Given the description of an element on the screen output the (x, y) to click on. 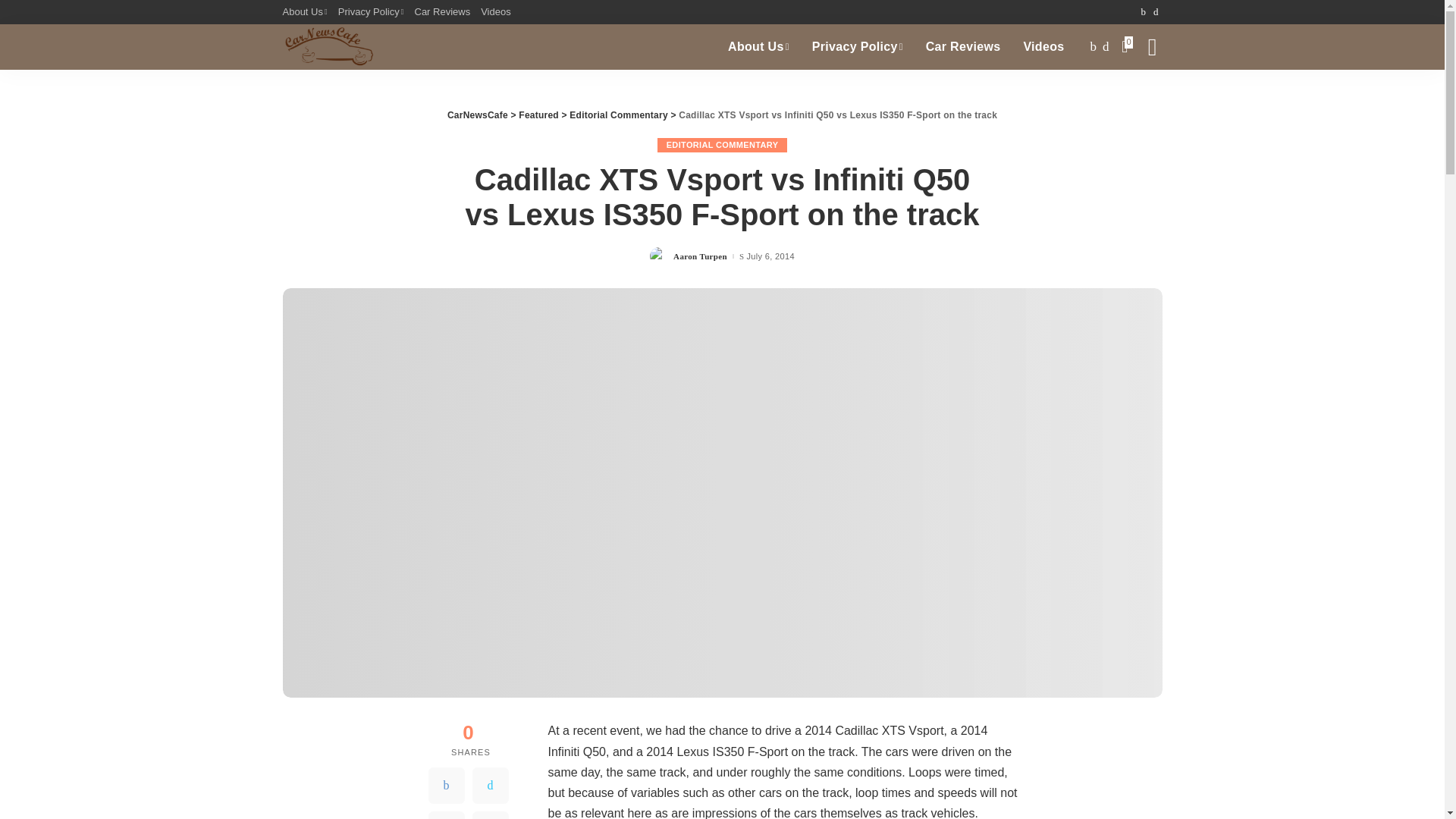
About Us (758, 46)
Car Reviews (962, 46)
About Us (306, 12)
Videos (1043, 46)
Privacy Policy (857, 46)
Search (1140, 97)
Videos (496, 12)
Car Reviews (442, 12)
Privacy Policy (371, 12)
CarNewsCafe (328, 46)
